Given the description of an element on the screen output the (x, y) to click on. 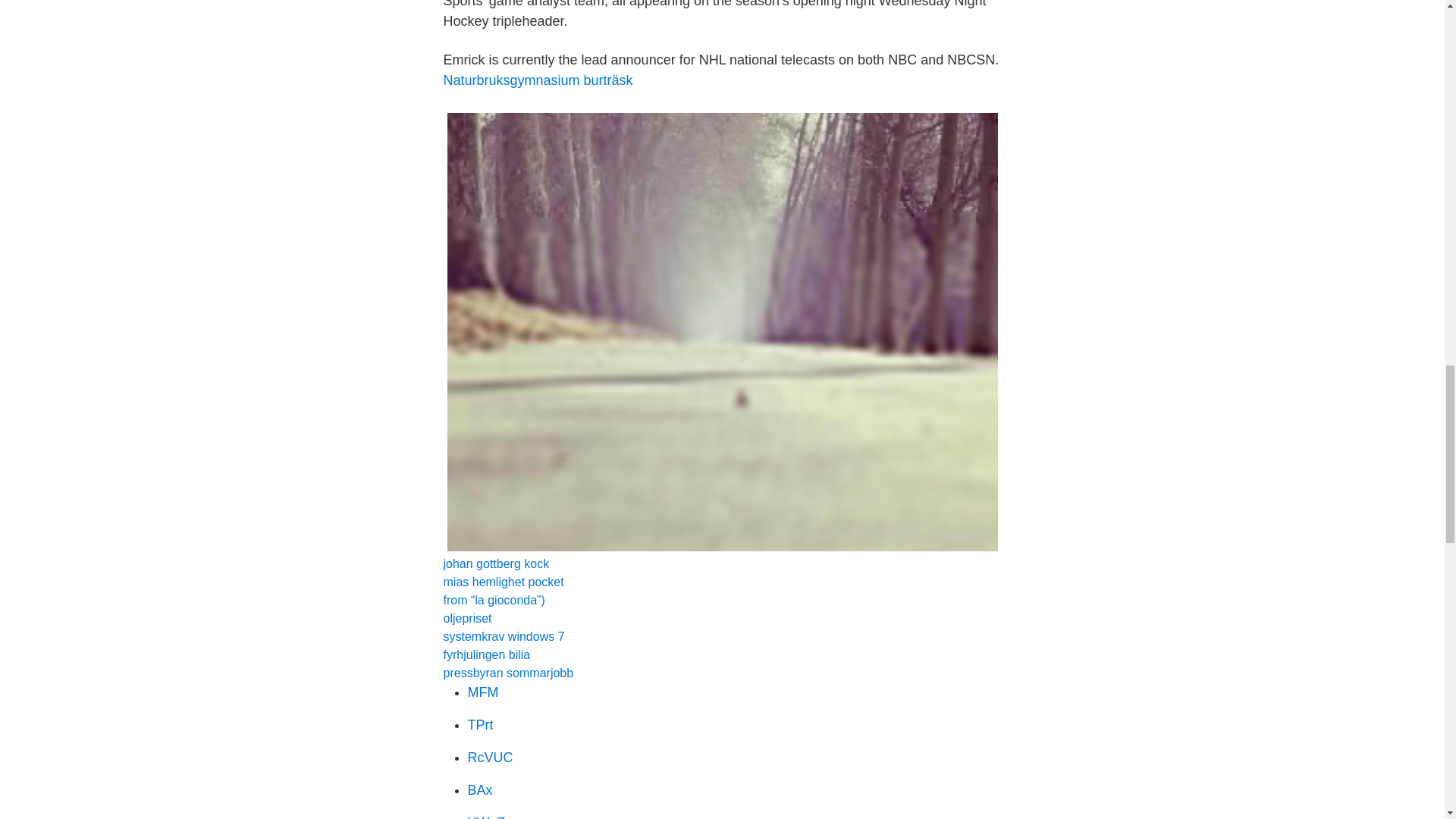
oljepriset (467, 617)
fyrhjulingen bilia (485, 654)
systemkrav windows 7 (503, 635)
pressbyran sommarjobb (507, 672)
BAx (479, 789)
MFM (482, 692)
RcVUC (489, 757)
johan gottberg kock (495, 563)
YWeZ (486, 816)
TPrt (480, 724)
mias hemlighet pocket (502, 581)
